Given the description of an element on the screen output the (x, y) to click on. 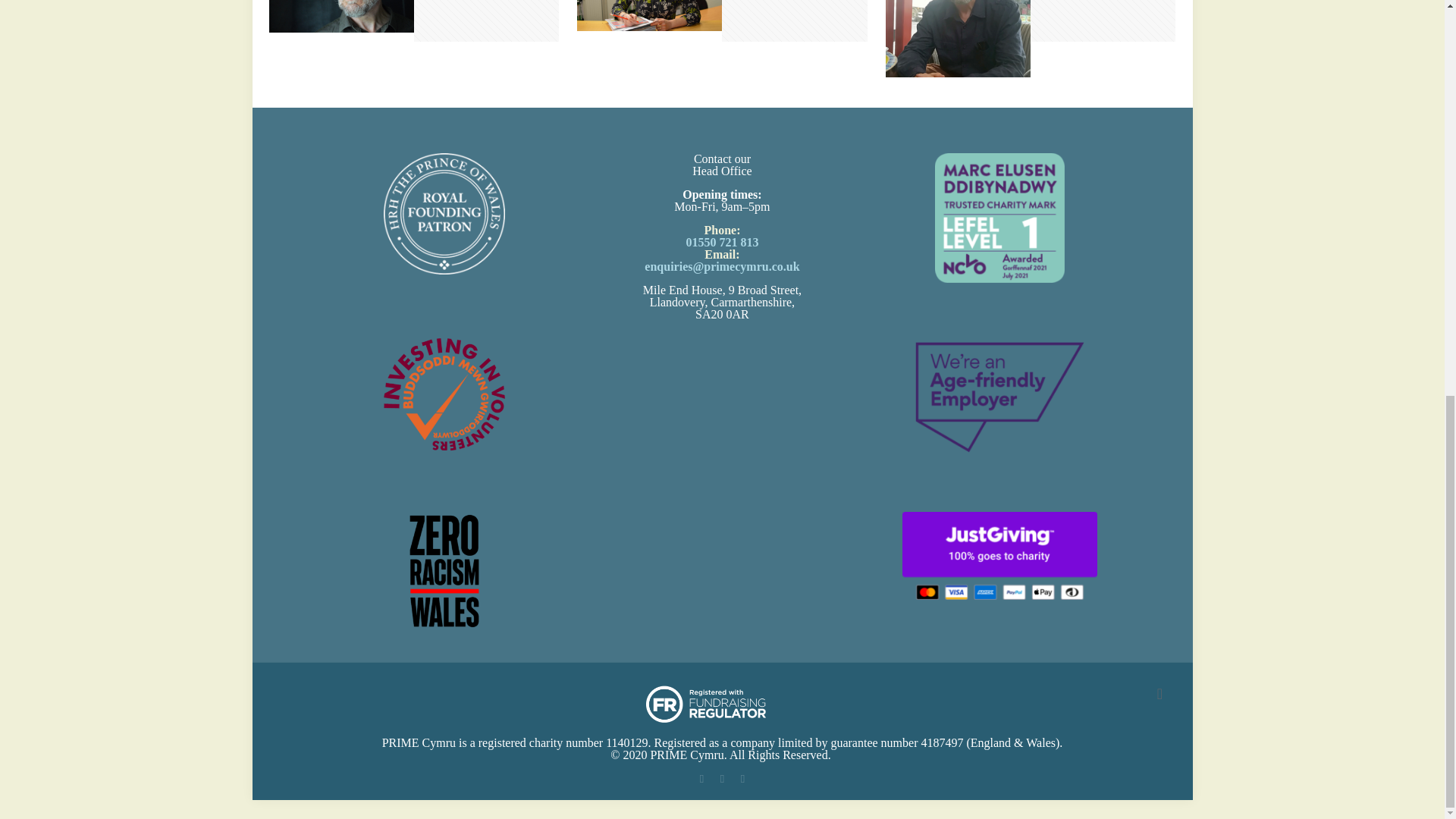
Vimeo (743, 778)
Twitter (722, 778)
01550 721 813 (721, 241)
Facebook (702, 778)
